Given the description of an element on the screen output the (x, y) to click on. 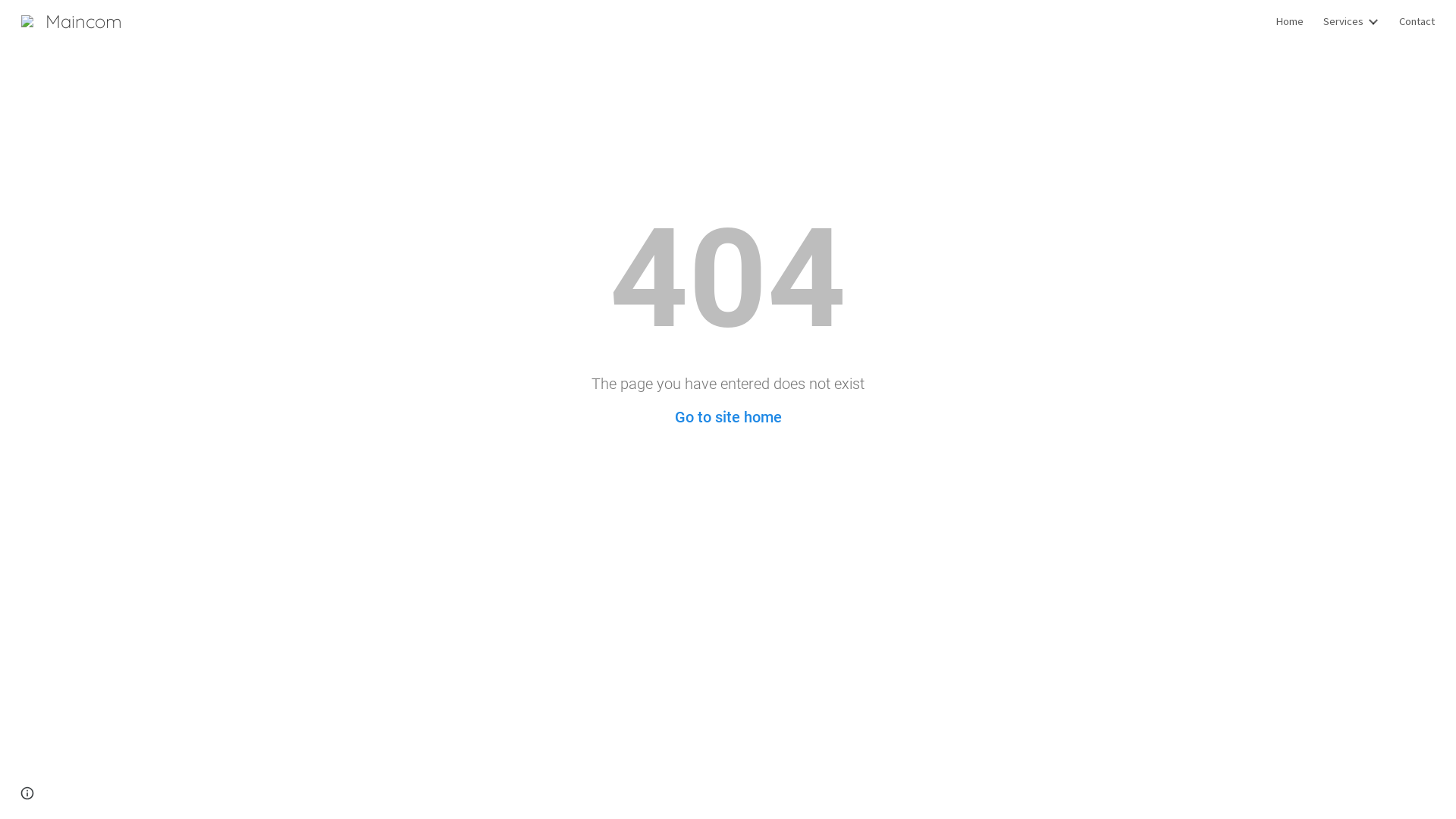
Go to site home Element type: text (727, 416)
Contact Element type: text (1416, 21)
Maincom Element type: text (71, 18)
Home Element type: text (1289, 21)
Expand/Collapse Element type: hover (1372, 21)
Services Element type: text (1343, 21)
